Given the description of an element on the screen output the (x, y) to click on. 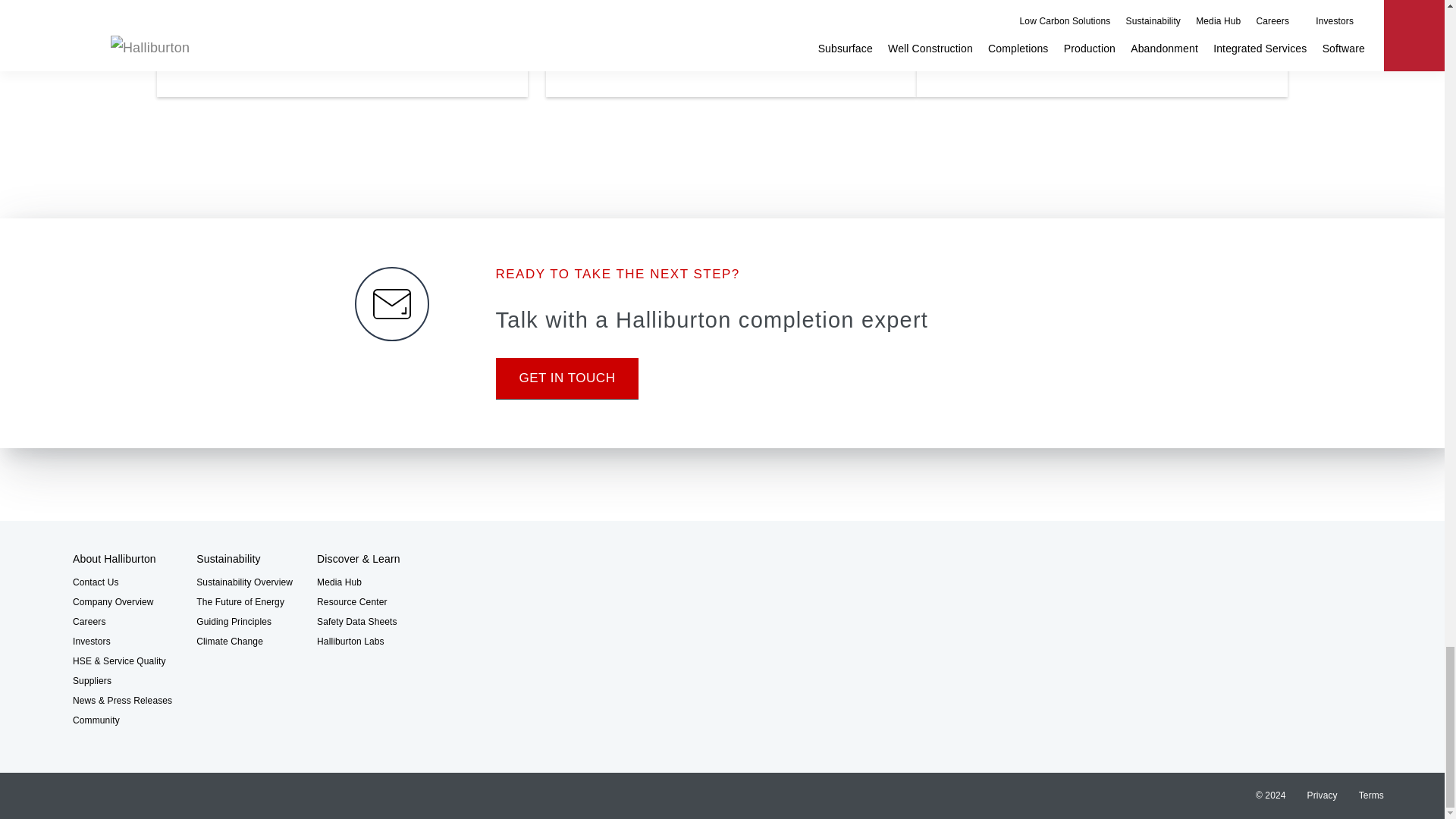
Get in Touch (567, 378)
Sand Control (1102, 63)
